Given the description of an element on the screen output the (x, y) to click on. 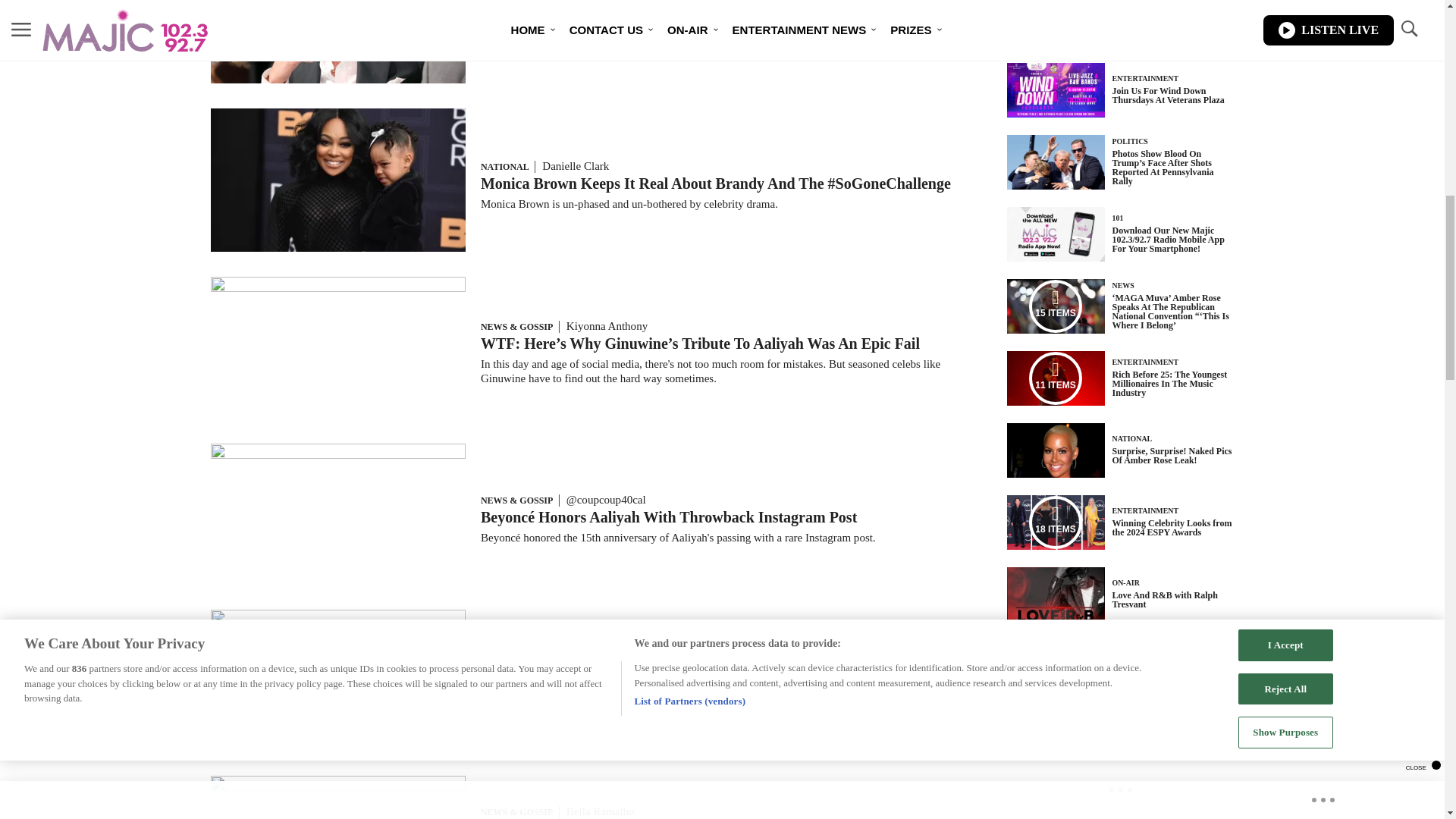
Media Playlist (1055, 306)
Media Playlist (1055, 522)
Media Playlist (1055, 378)
NATIONAL (504, 166)
